Given the description of an element on the screen output the (x, y) to click on. 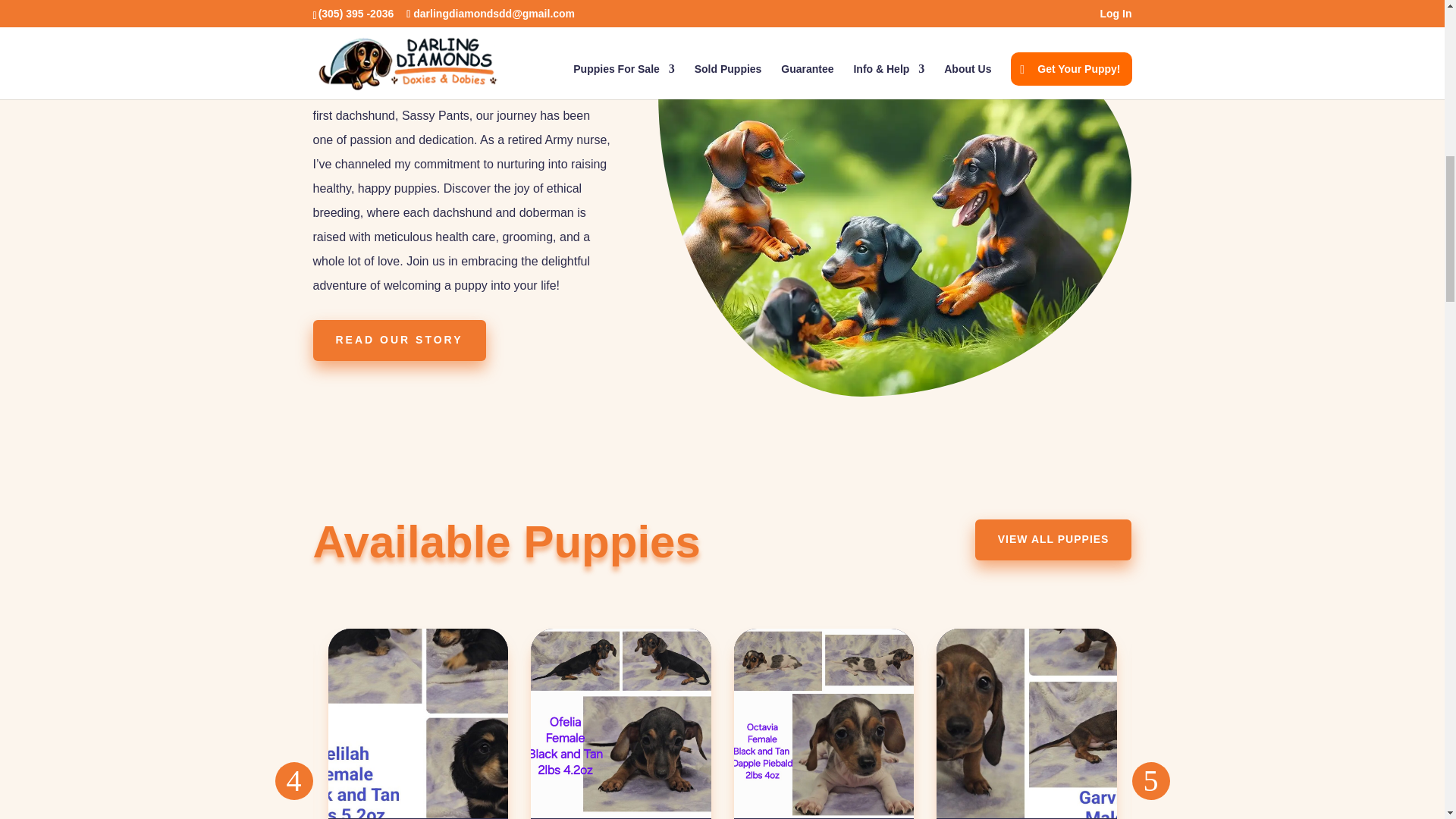
VIEW ALL PUPPIES (1053, 539)
READ OUR STORY (398, 340)
